Given the description of an element on the screen output the (x, y) to click on. 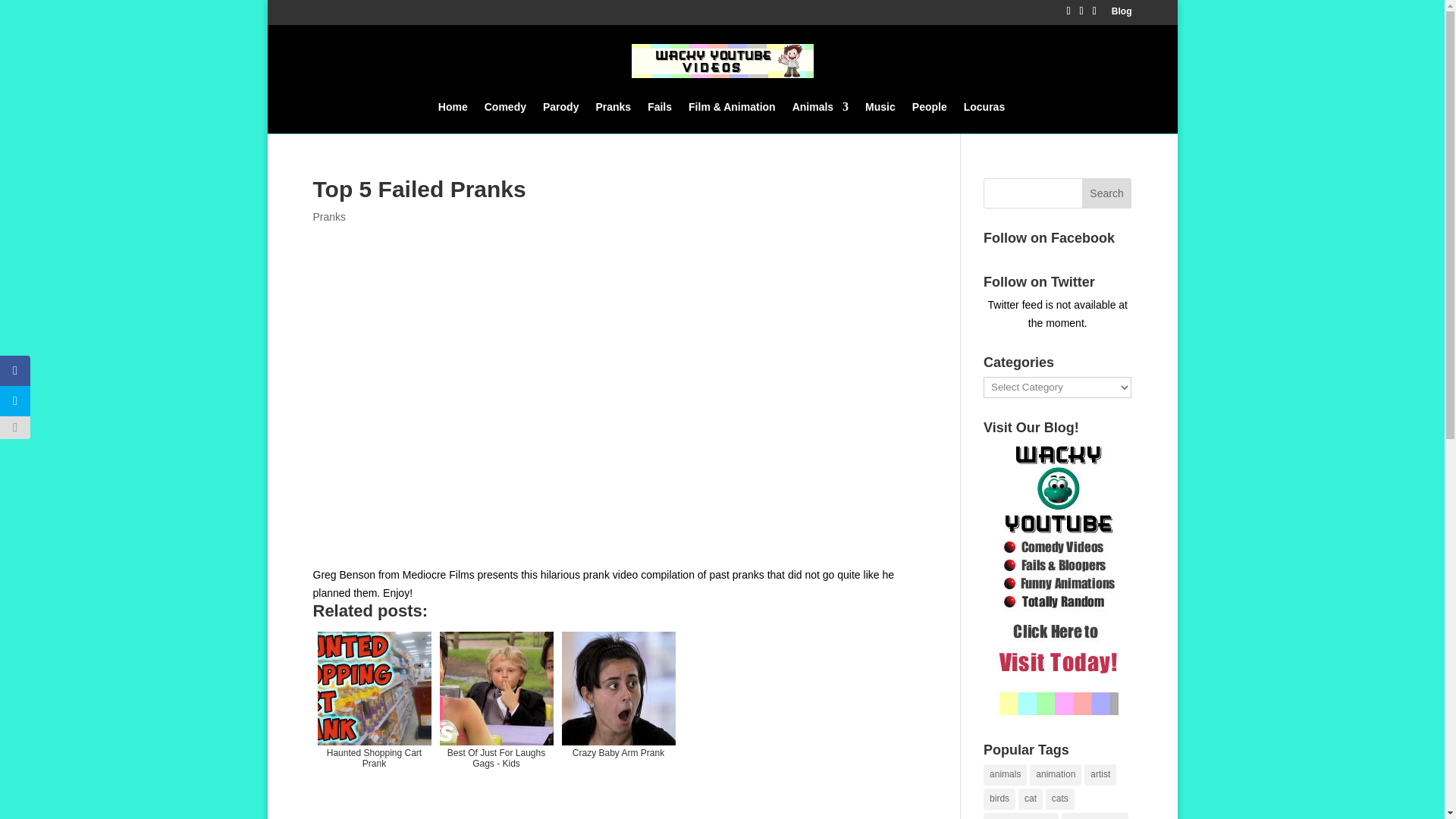
Animals (820, 117)
Blog (1122, 14)
Pranks (329, 216)
Search (1106, 193)
Locuras (983, 117)
Comedy (504, 117)
People (929, 117)
Parody (560, 117)
Music (879, 117)
